Given the description of an element on the screen output the (x, y) to click on. 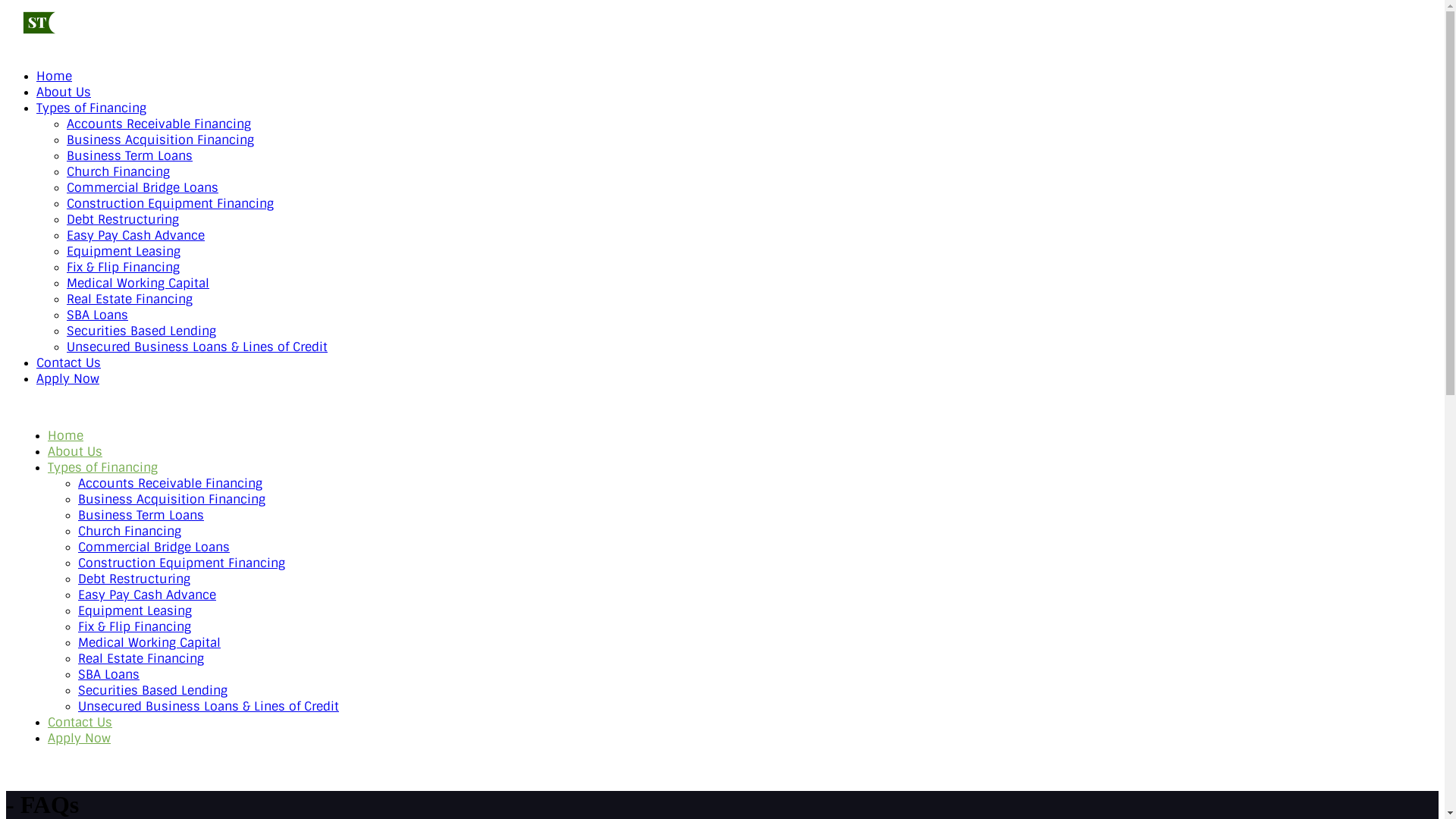
Home Element type: text (65, 435)
Accounts Receivable Financing Element type: text (158, 123)
Commercial Bridge Loans Element type: text (153, 547)
Debt Restructuring Element type: text (122, 219)
Unsecured Business Loans & Lines of Credit Element type: text (196, 346)
About Us Element type: text (74, 451)
Real Estate Financing Element type: text (140, 658)
Commercial Bridge Loans Element type: text (142, 187)
Medical Working Capital Element type: text (149, 642)
Debt Restructuring Element type: text (134, 578)
Equipment Leasing Element type: text (123, 251)
Equipment Leasing Element type: text (134, 610)
Contact Us Element type: text (79, 722)
Securities Based Lending Element type: text (152, 690)
Construction Equipment Financing Element type: text (169, 203)
Medical Working Capital Element type: text (137, 283)
Apply Now Element type: text (67, 378)
Easy Pay Cash Advance Element type: text (135, 235)
Church Financing Element type: text (117, 171)
Contact Us Element type: text (68, 362)
1st Choice Financial Solutions - Financing You Can Count On Element type: hover (81, 37)
Types of Financing Element type: text (102, 467)
SBA Loans Element type: text (97, 315)
Business Acquisition Financing Element type: text (171, 499)
Business Acquisition Financing Element type: text (160, 139)
Unsecured Business Loans & Lines of Credit Element type: text (208, 706)
Business Term Loans Element type: text (129, 155)
Construction Equipment Financing Element type: text (181, 563)
About Us Element type: text (63, 92)
SBA Loans Element type: text (108, 674)
Fix & Flip Financing Element type: text (122, 267)
Home Element type: text (54, 76)
Accounts Receivable Financing Element type: text (170, 483)
Fix & Flip Financing Element type: text (134, 626)
Apply Now Element type: text (78, 738)
Easy Pay Cash Advance Element type: text (147, 594)
Church Financing Element type: text (129, 531)
Business Term Loans Element type: text (140, 515)
Securities Based Lending Element type: text (141, 330)
Real Estate Financing Element type: text (129, 299)
Types of Financing Element type: text (91, 108)
